Given the description of an element on the screen output the (x, y) to click on. 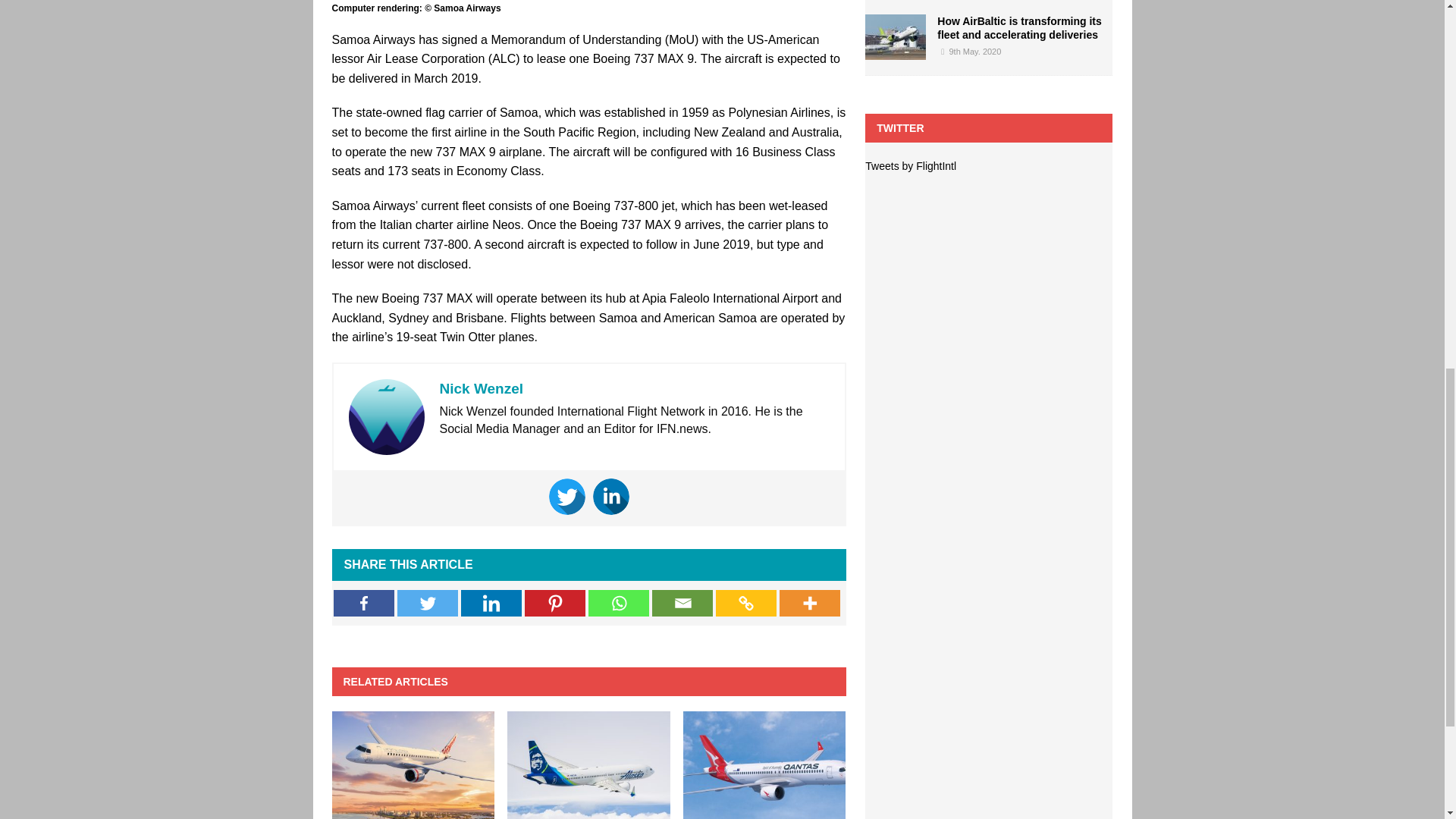
Twitter (427, 602)
Email (682, 602)
Whatsapp (618, 602)
Facebook (363, 602)
Twitter (566, 496)
Linkedin (610, 496)
Linkedin (491, 602)
Pinterest (554, 602)
